Given the description of an element on the screen output the (x, y) to click on. 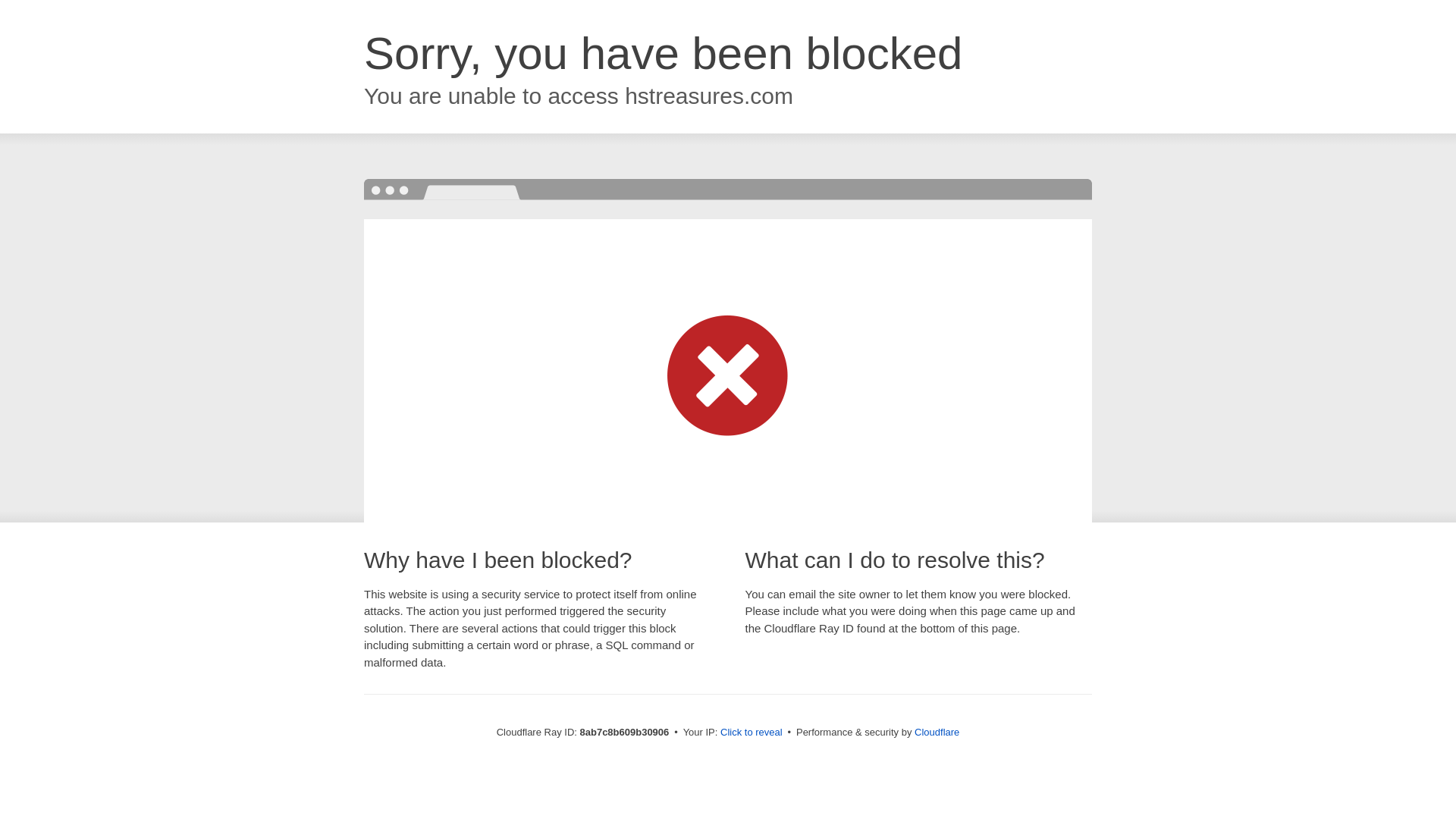
Click to reveal (751, 732)
Cloudflare (936, 731)
